Given the description of an element on the screen output the (x, y) to click on. 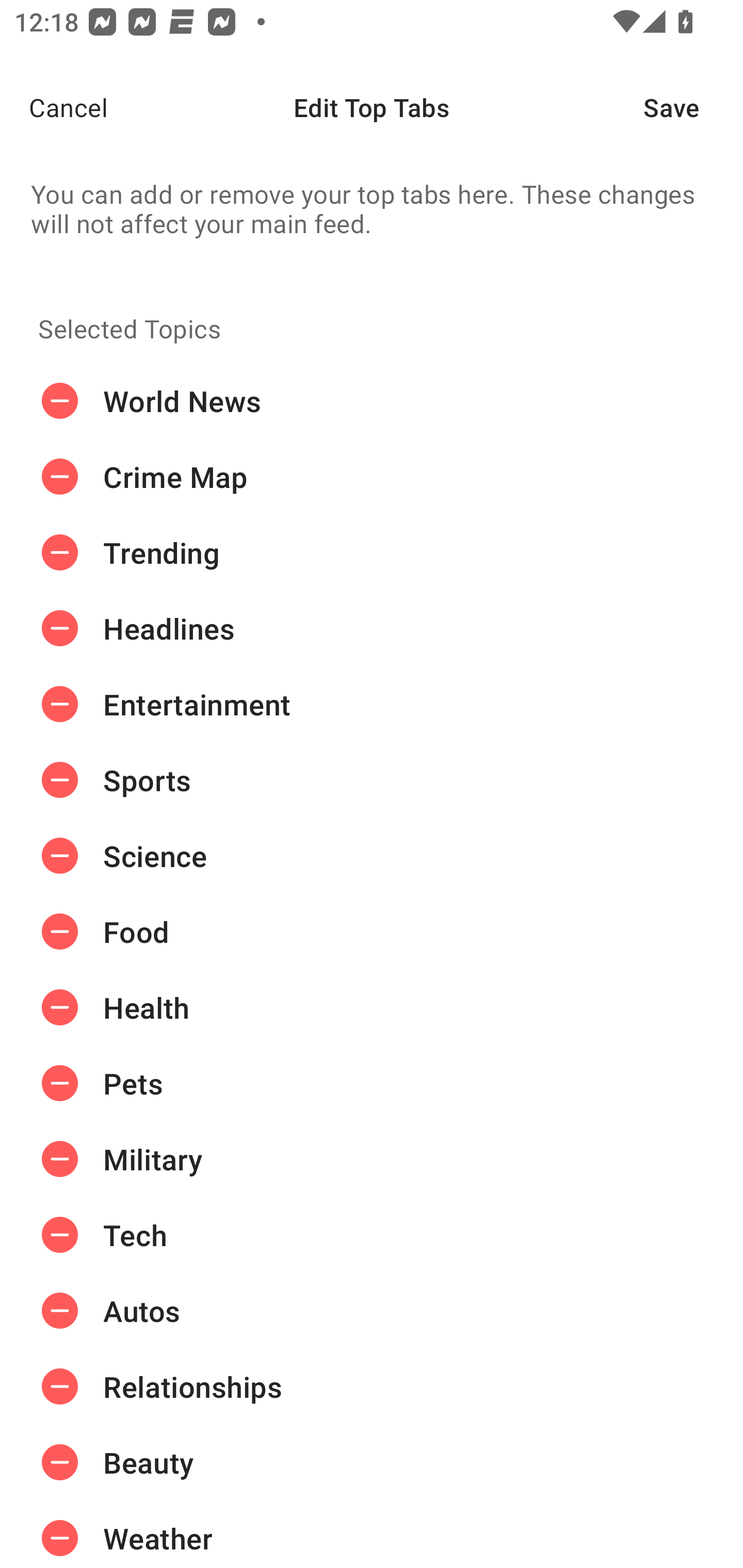
Cancel (53, 106)
Save (693, 106)
World News (371, 401)
Crime Map (371, 476)
Trending (371, 552)
Headlines (371, 628)
Entertainment (371, 703)
Sports (371, 779)
Science (371, 855)
Food (371, 931)
Health (371, 1007)
Pets (371, 1083)
Military (371, 1158)
Tech (371, 1234)
Autos (371, 1310)
Relationships (371, 1386)
Beauty (371, 1462)
Weather (371, 1534)
